Given the description of an element on the screen output the (x, y) to click on. 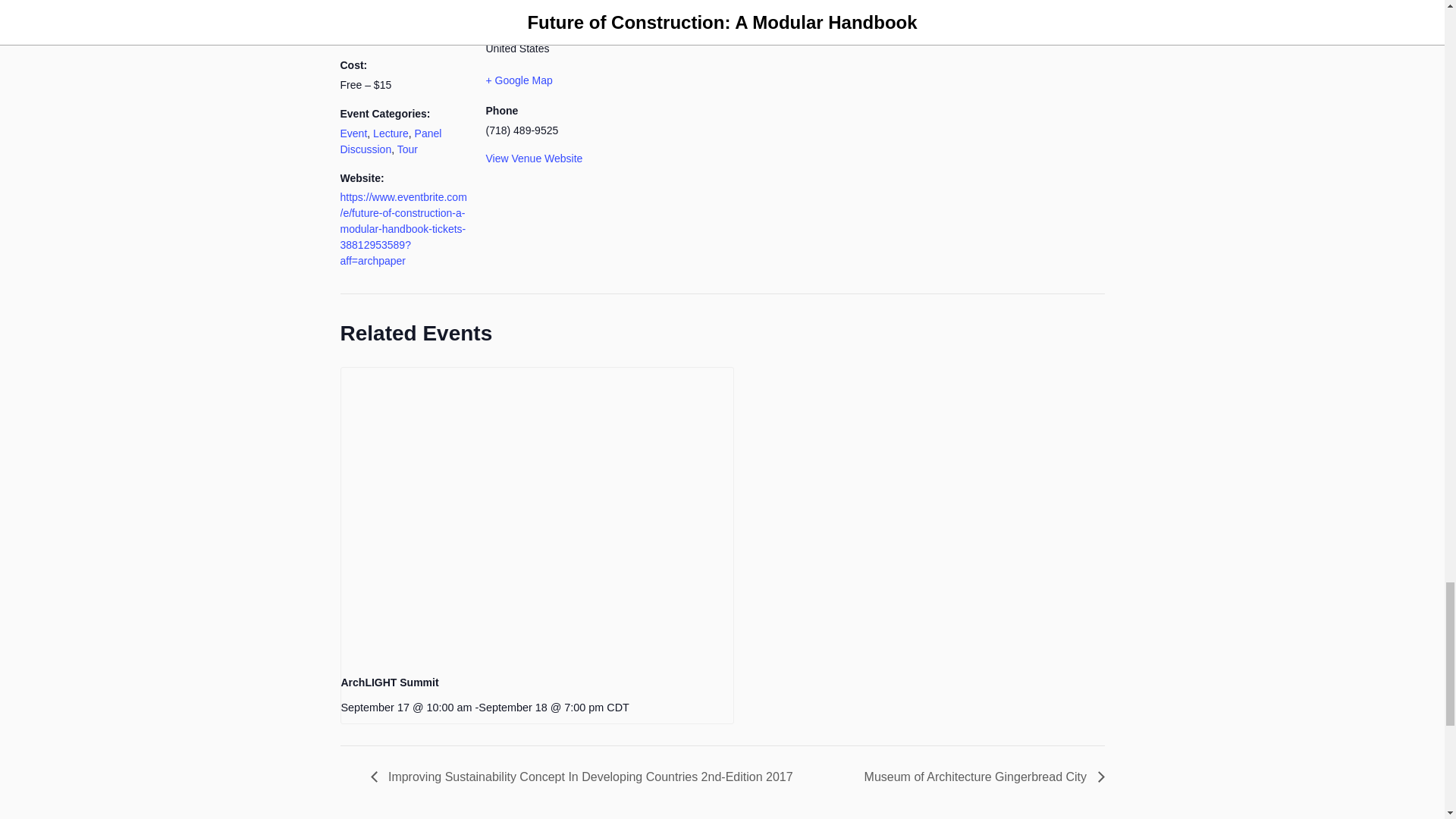
2017-11-16 (403, 36)
New York (539, 28)
Click to view a Google Map (548, 80)
